Given the description of an element on the screen output the (x, y) to click on. 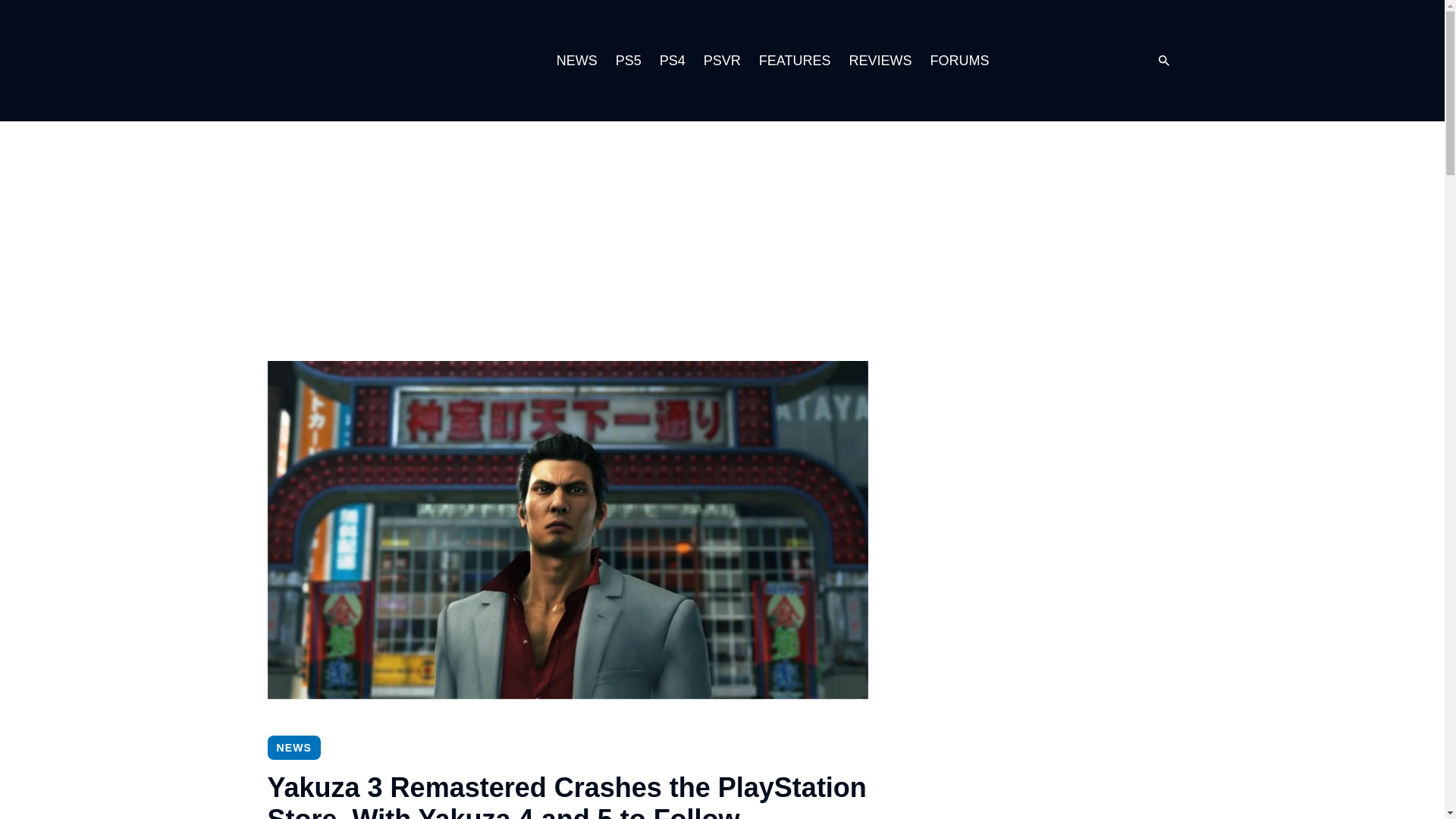
REVIEWS (880, 60)
Instagram (1048, 60)
FORUMS (958, 60)
Facebook (1109, 60)
3rd party ad content (721, 240)
NEWS (577, 60)
NEWS (293, 747)
PSVR (721, 60)
FEATURES (794, 60)
Twitter (1079, 60)
